Given the description of an element on the screen output the (x, y) to click on. 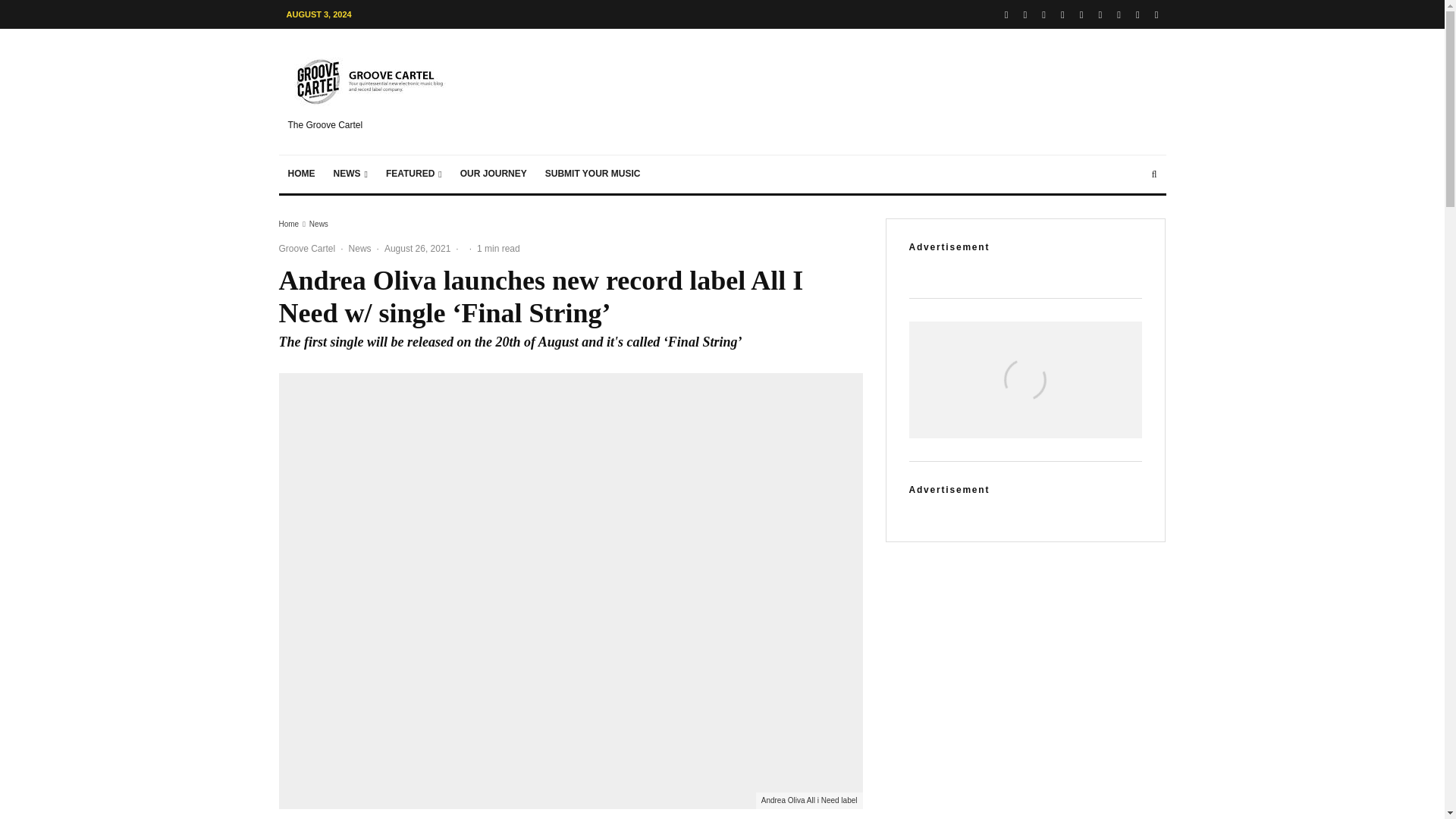
NEWS (350, 174)
The Groove Cartel (371, 91)
FEATURED (414, 174)
OUR JOURNEY (493, 174)
HOME (301, 174)
